Given the description of an element on the screen output the (x, y) to click on. 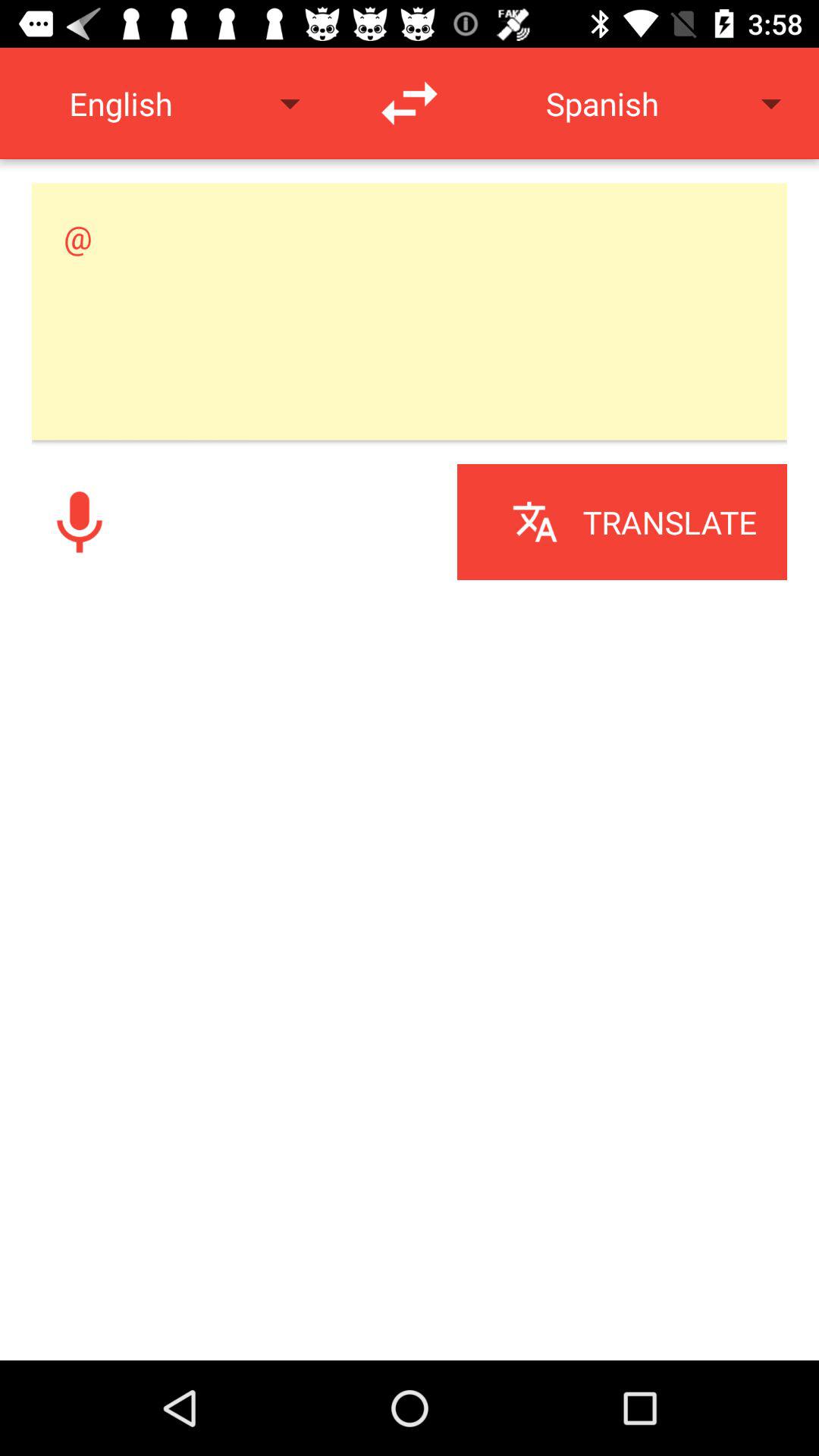
go to voice button (79, 521)
